Given the description of an element on the screen output the (x, y) to click on. 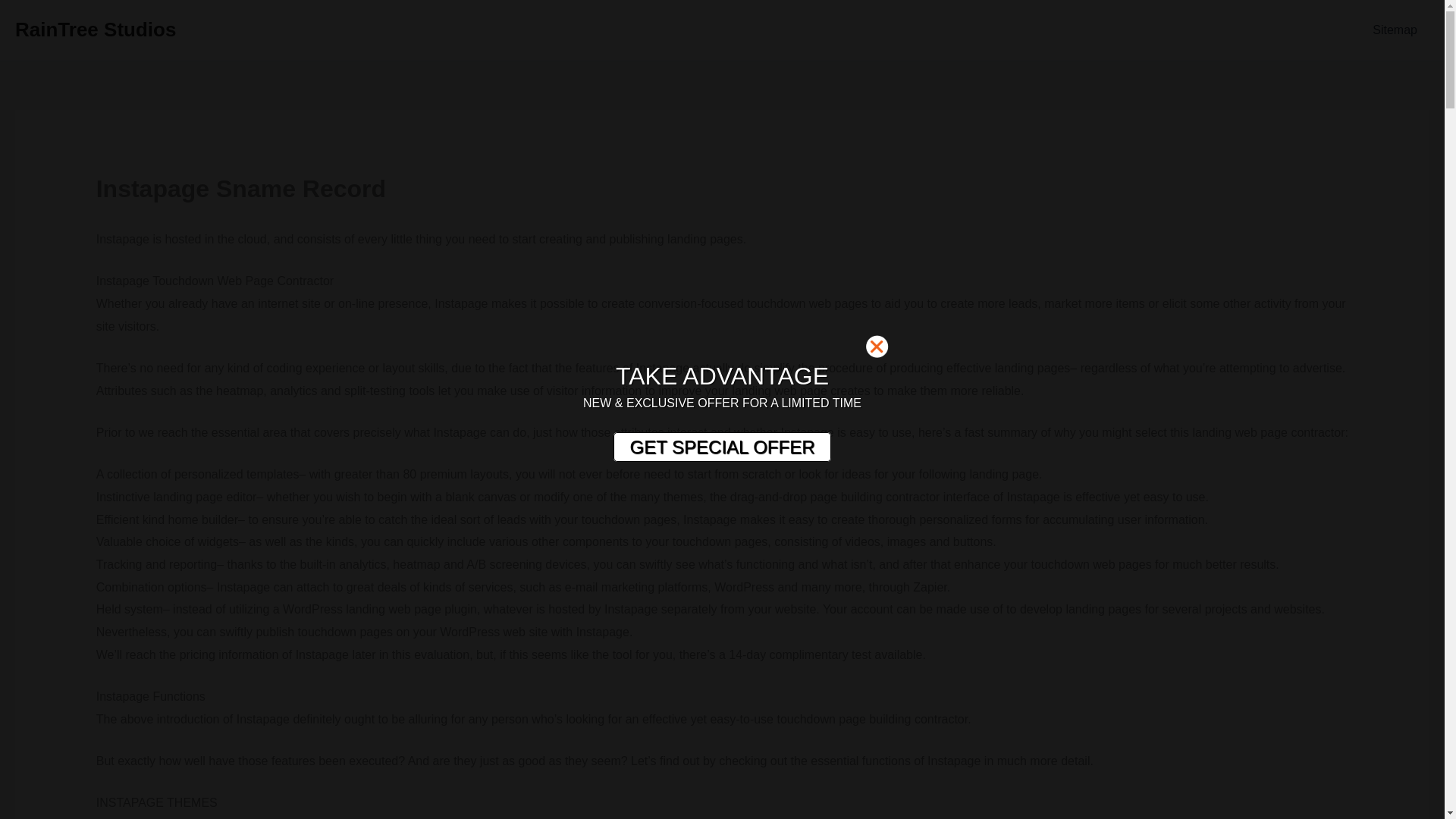
GET SPECIAL OFFER (720, 446)
Sitemap (1394, 30)
RainTree Studios (95, 29)
